Given the description of an element on the screen output the (x, y) to click on. 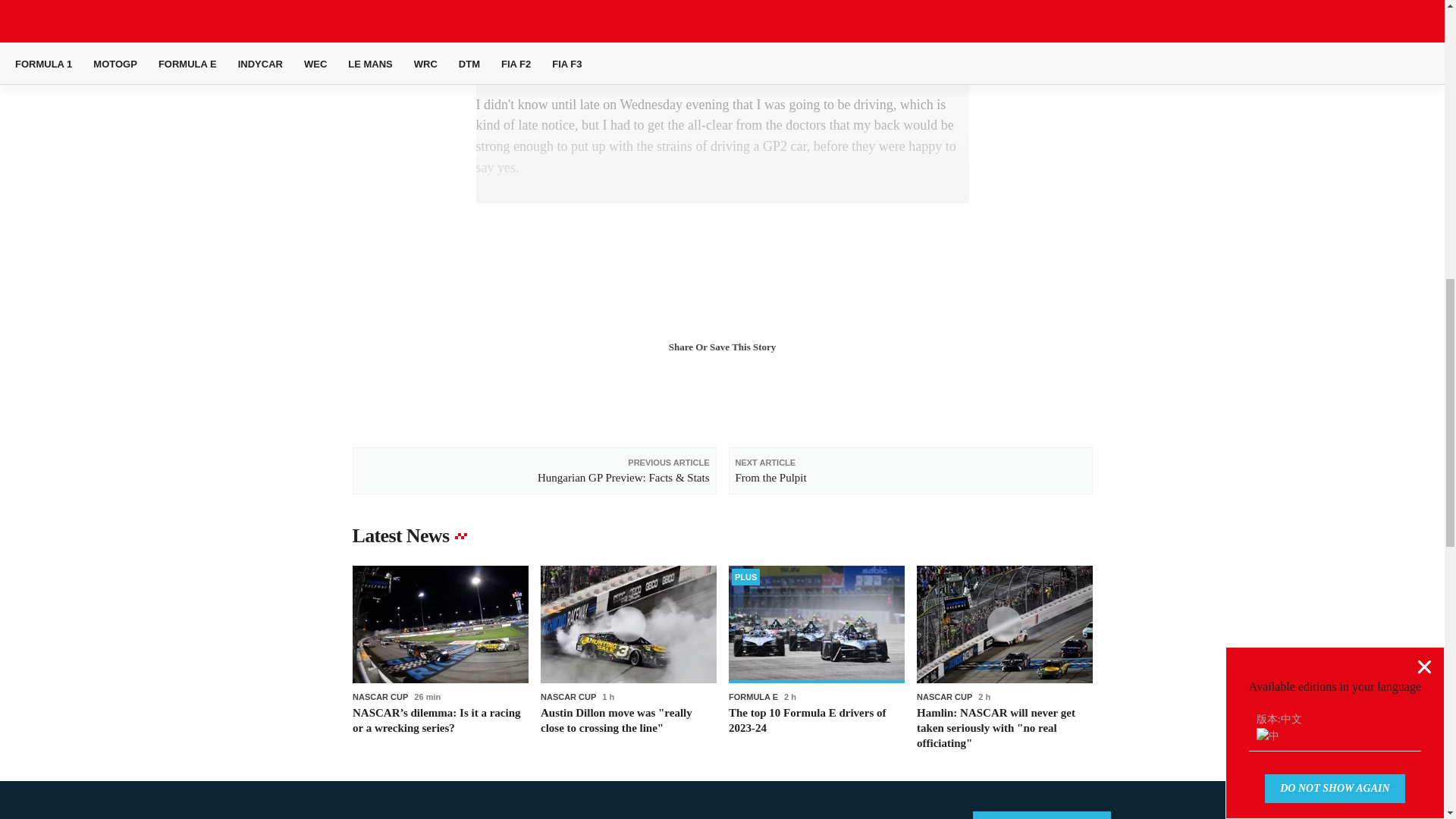
The top 10 Formula E drivers of 2023-24 (816, 658)
Austin Dillon move was "really close to crossing the line" (628, 658)
From the Pulpit (910, 470)
